Given the description of an element on the screen output the (x, y) to click on. 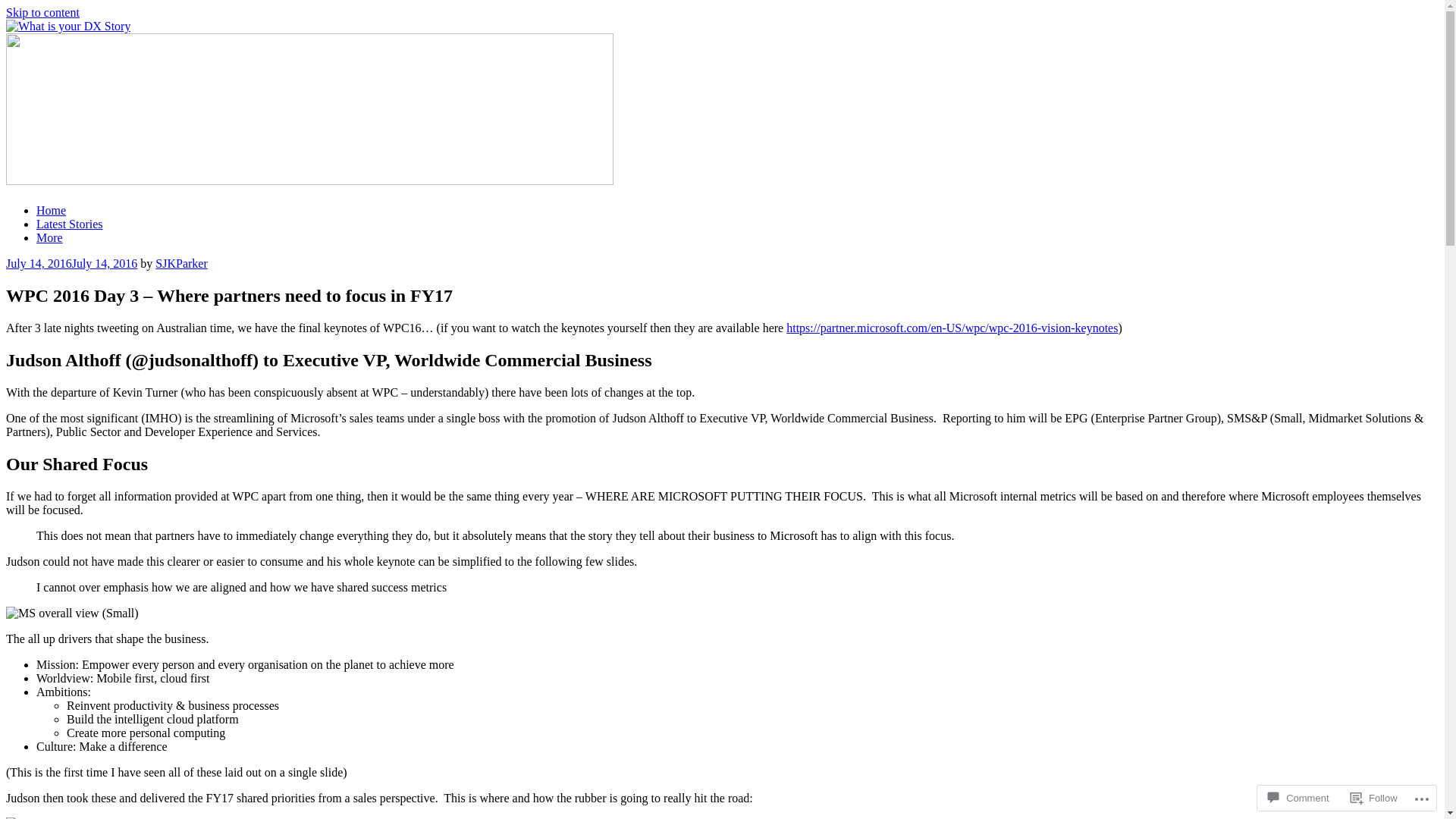
Skip to content Element type: text (42, 12)
Follow Element type: text (1373, 797)
What is your DX Story Element type: text (125, 217)
More Element type: text (49, 237)
SJKParker Element type: text (181, 263)
Latest Stories Element type: text (69, 223)
Home Element type: text (50, 209)
July 14, 2016July 14, 2016 Element type: text (71, 263)
Comment Element type: text (1297, 797)
